Given the description of an element on the screen output the (x, y) to click on. 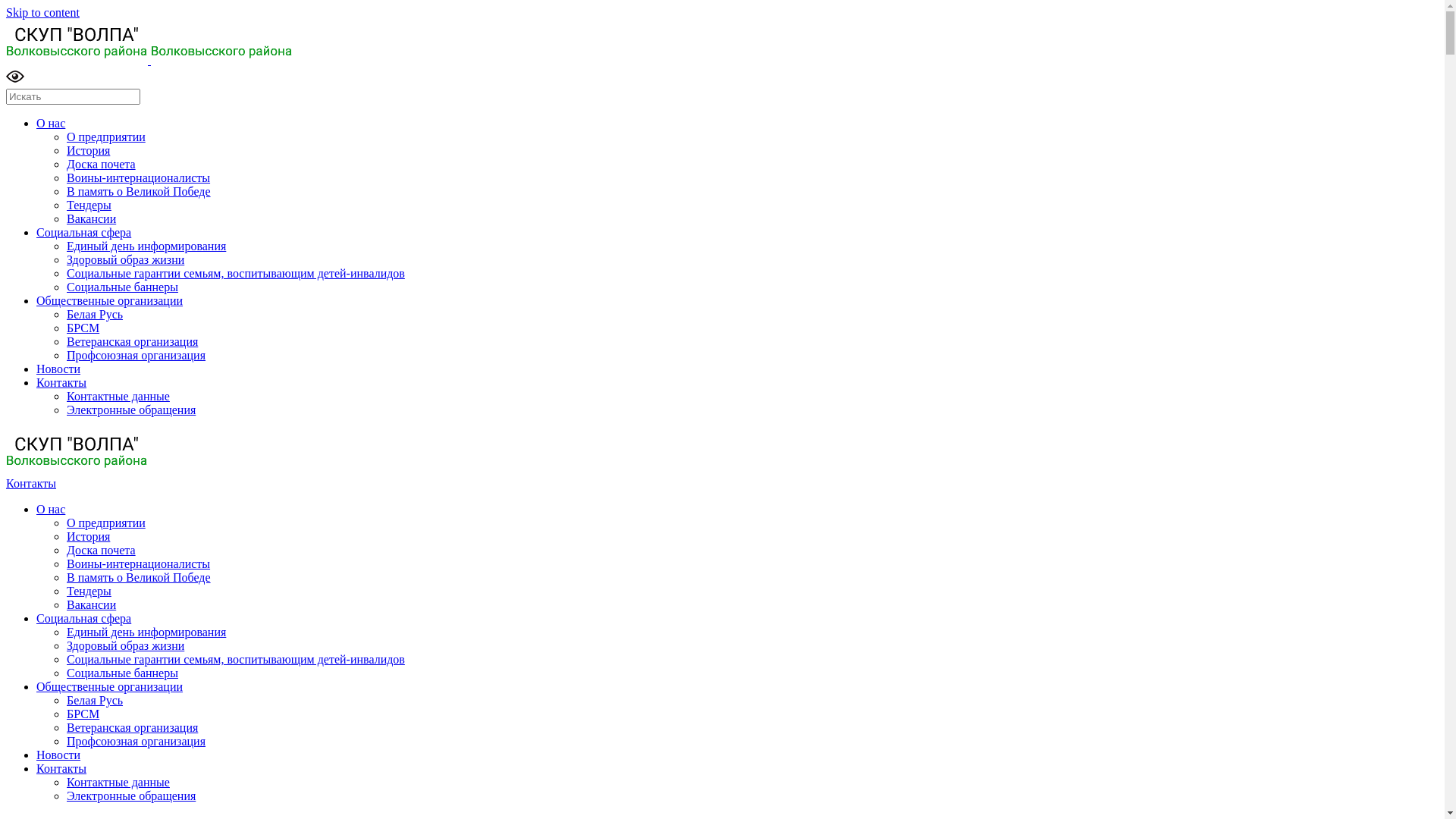
Skip to content Element type: text (42, 12)
